Given the description of an element on the screen output the (x, y) to click on. 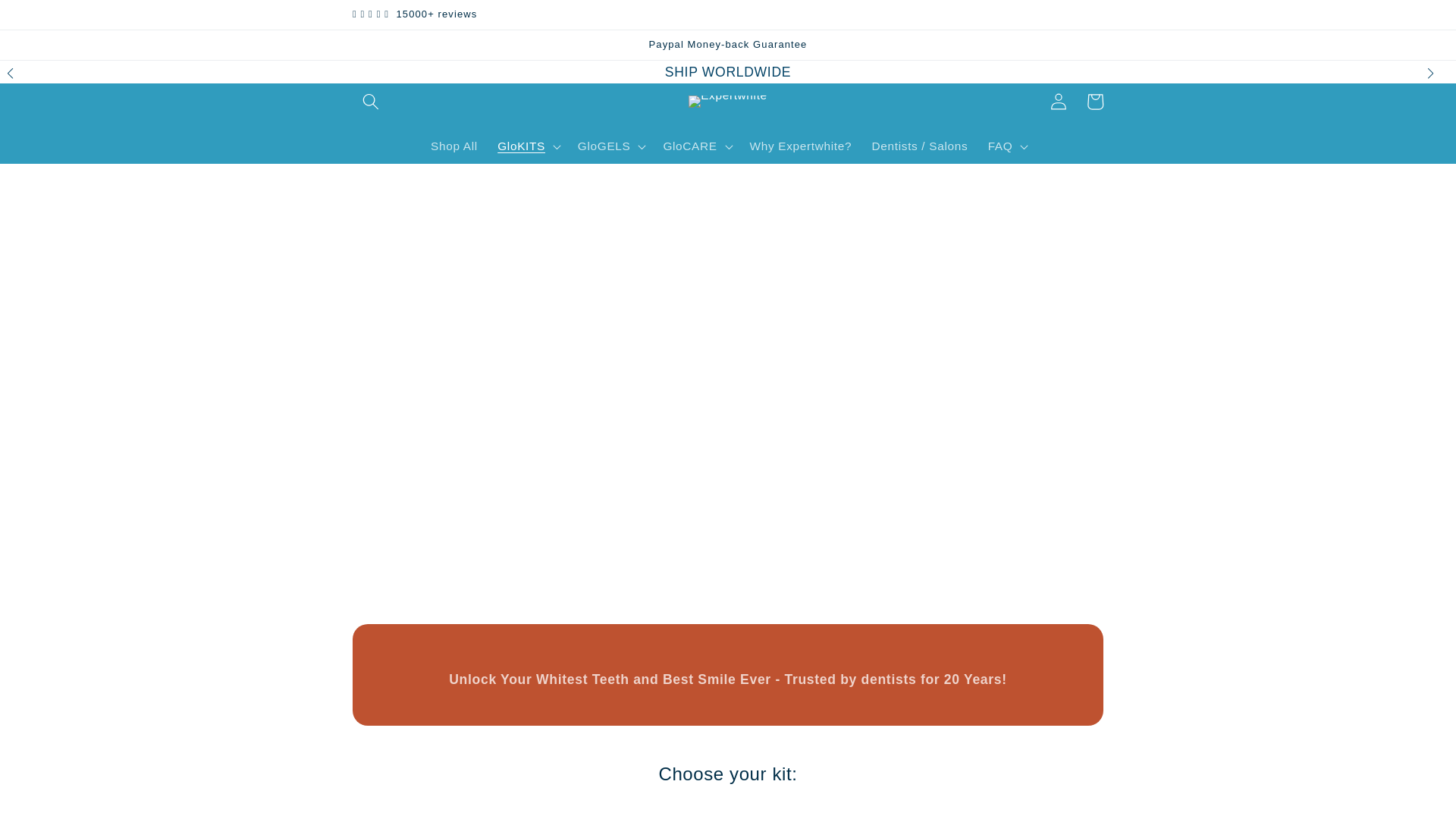
Skip to content (51, 20)
